Given the description of an element on the screen output the (x, y) to click on. 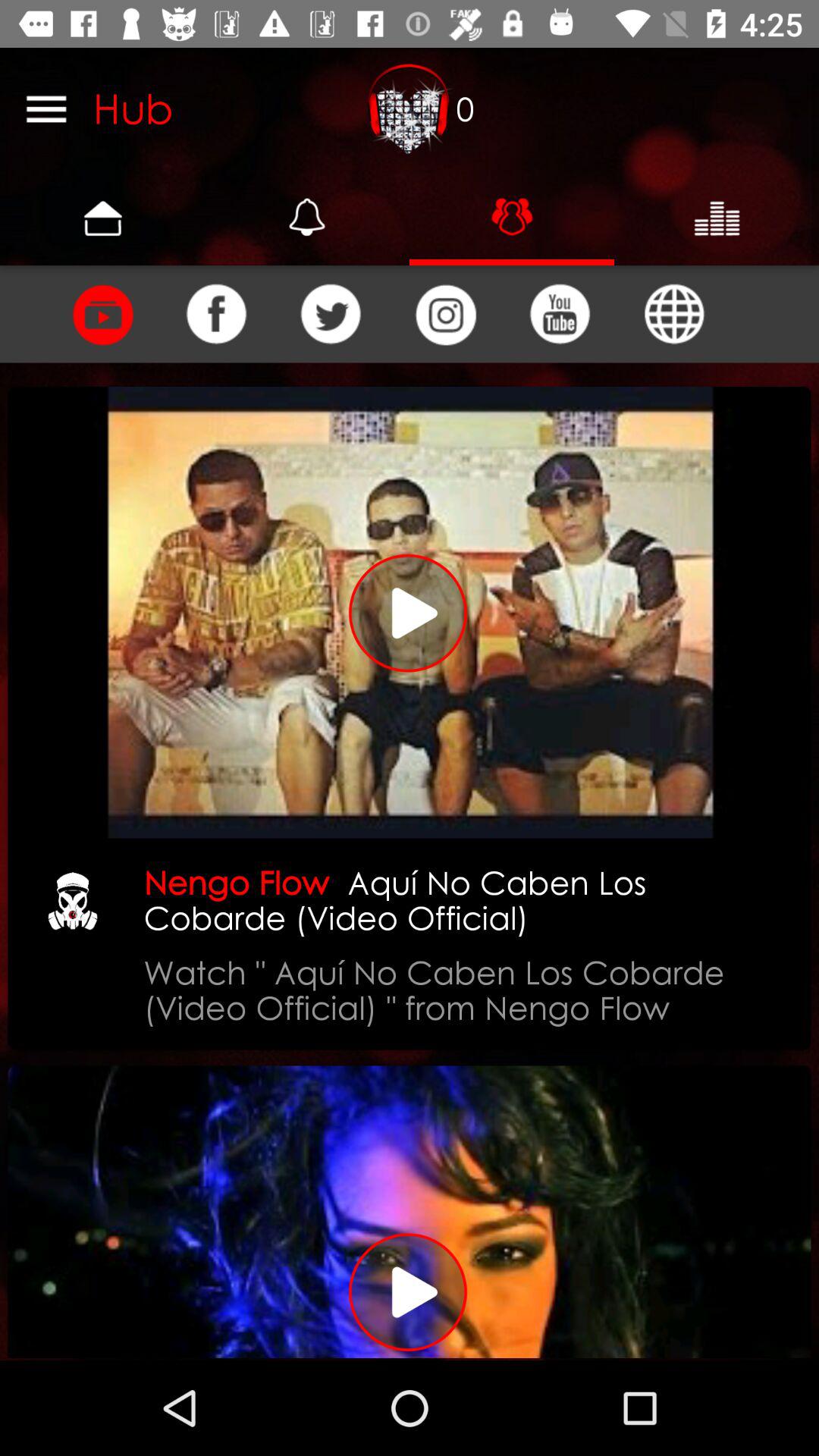
choose item to the left of the hub icon (45, 108)
